Given the description of an element on the screen output the (x, y) to click on. 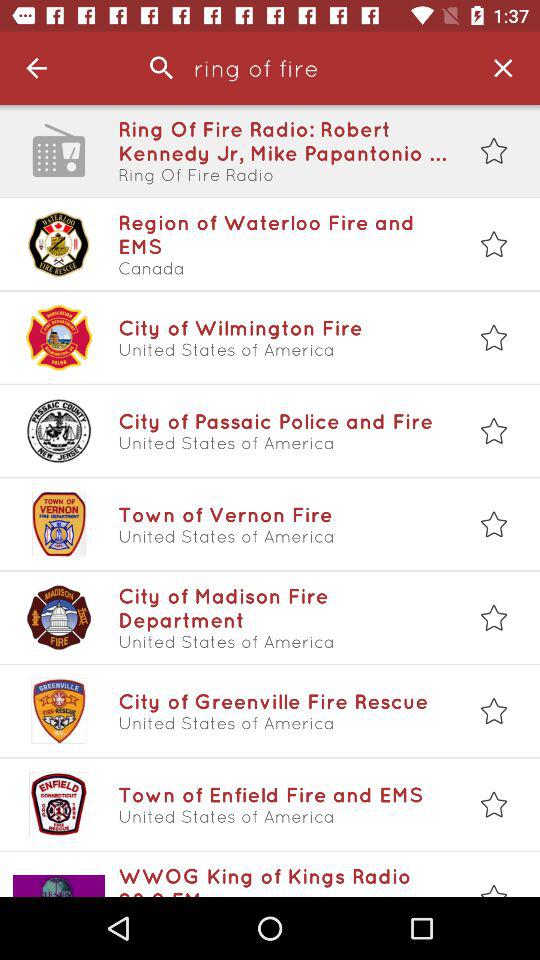
launch the item above canada icon (283, 234)
